Given the description of an element on the screen output the (x, y) to click on. 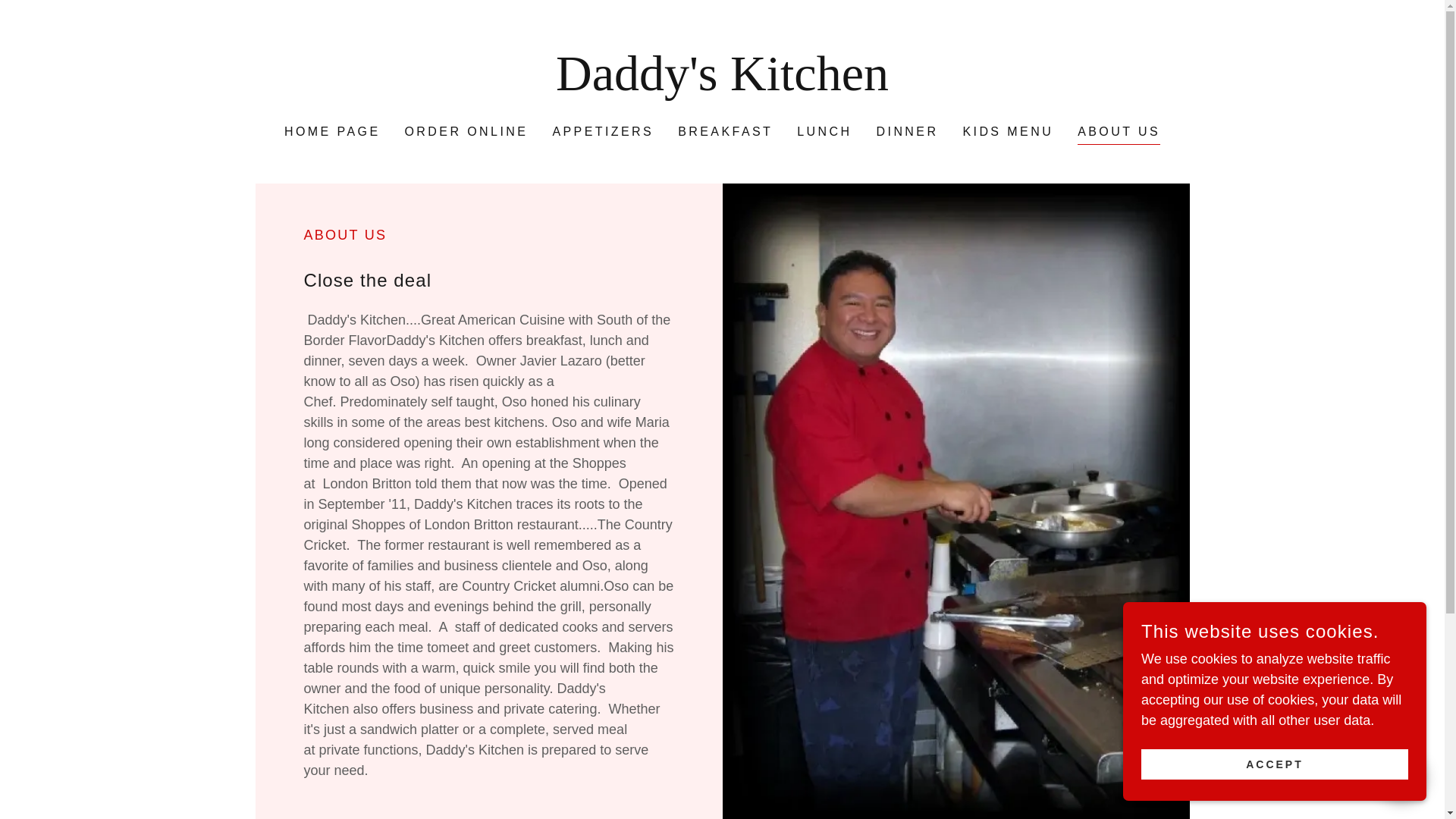
Daddy's Kitchen (721, 85)
HOME PAGE (332, 131)
DINNER (907, 131)
APPETIZERS (602, 131)
ACCEPT (1274, 764)
ORDER ONLINE (465, 131)
KIDS MENU (1008, 131)
Daddy's Kitchen (721, 85)
LUNCH (824, 131)
BREAKFAST (724, 131)
